Given the description of an element on the screen output the (x, y) to click on. 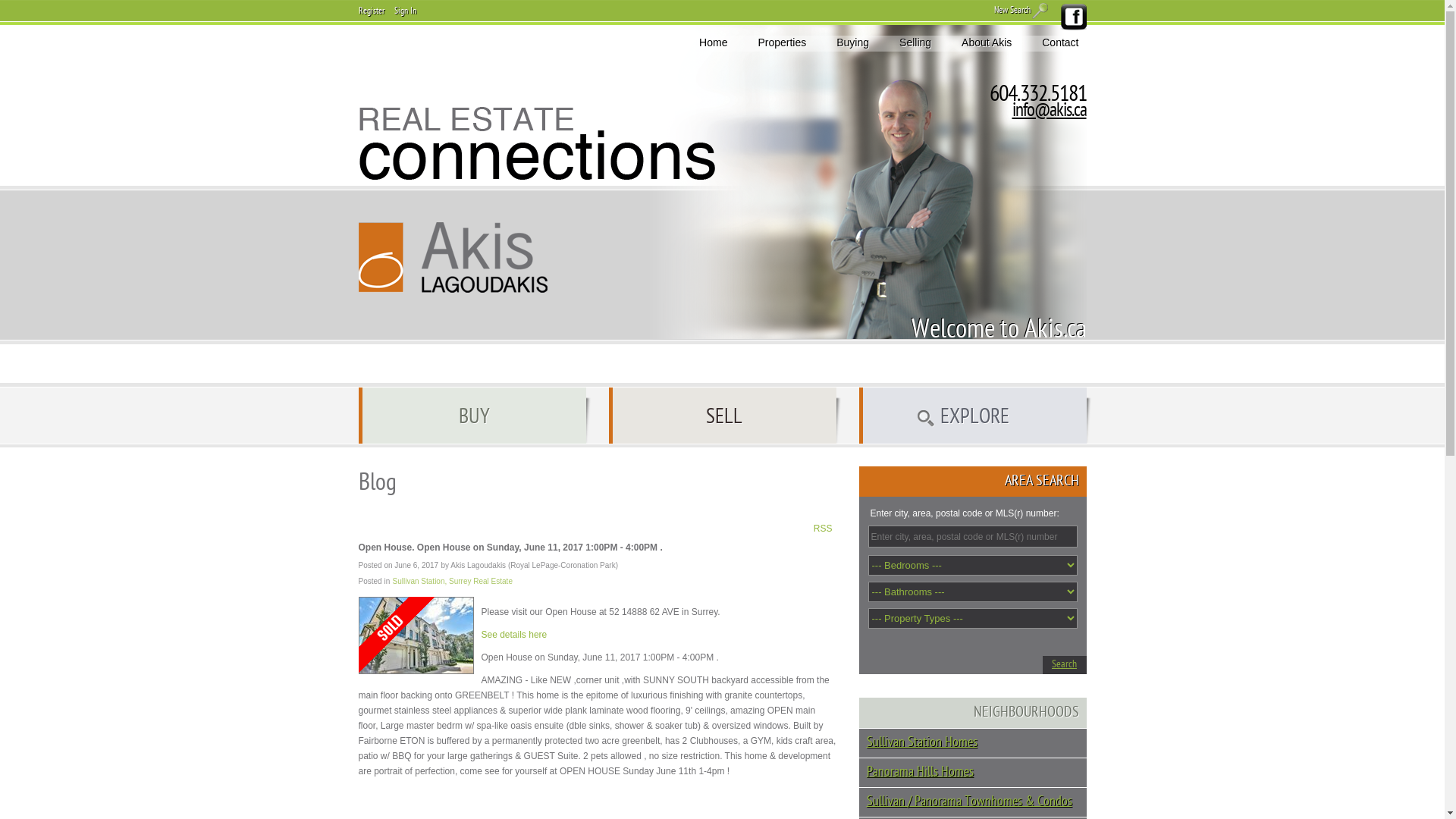
Contact Element type: text (1059, 42)
Sullivan Station Homes Element type: text (975, 742)
Home Element type: text (712, 42)
Register Element type: text (370, 11)
Sign In Element type: text (405, 11)
info@akis.ca Element type: text (1048, 111)
Follow me on Facebook Element type: text (1071, 17)
Sullivan / Panorama Townhomes & Condos Element type: text (975, 801)
Sullivan Station, Surrey Real Estate Element type: text (452, 581)
Properties Element type: text (781, 42)
EXPLORE Element type: text (974, 415)
Buying Element type: text (852, 42)
About Akis Element type: text (986, 42)
New Search Element type: text (1021, 12)
Search Element type: text (1063, 664)
Akis Lagoudakis - Real Estate Professional Element type: text (452, 257)
SELL Element type: text (724, 415)
Selling Element type: text (914, 42)
Panorama Hills Homes Element type: text (975, 772)
RSS Element type: text (822, 527)
BUY Element type: text (474, 415)
See details here Element type: text (513, 634)
